Given the description of an element on the screen output the (x, y) to click on. 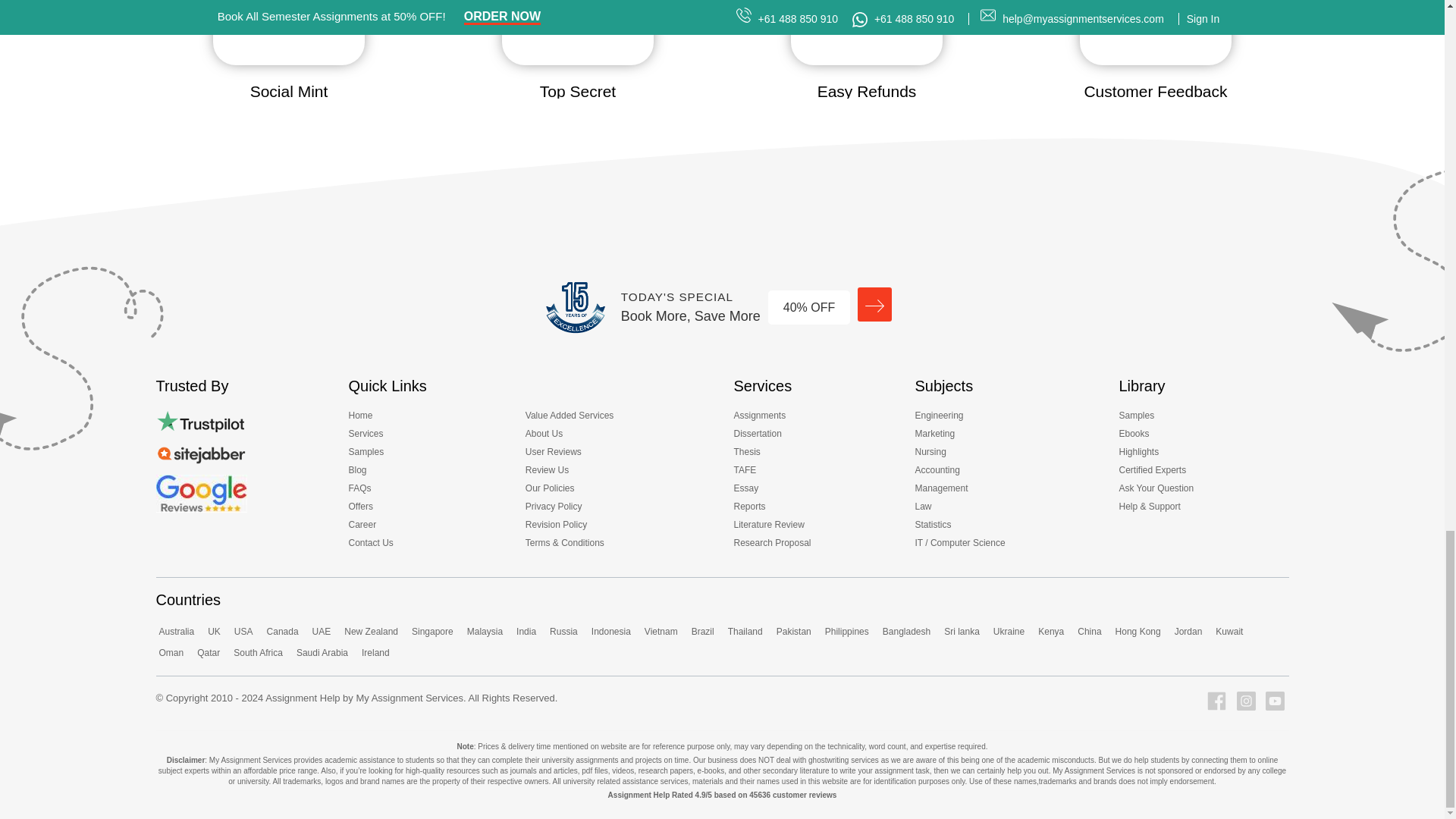
Dissertation Writing Help (761, 436)
